Given the description of an element on the screen output the (x, y) to click on. 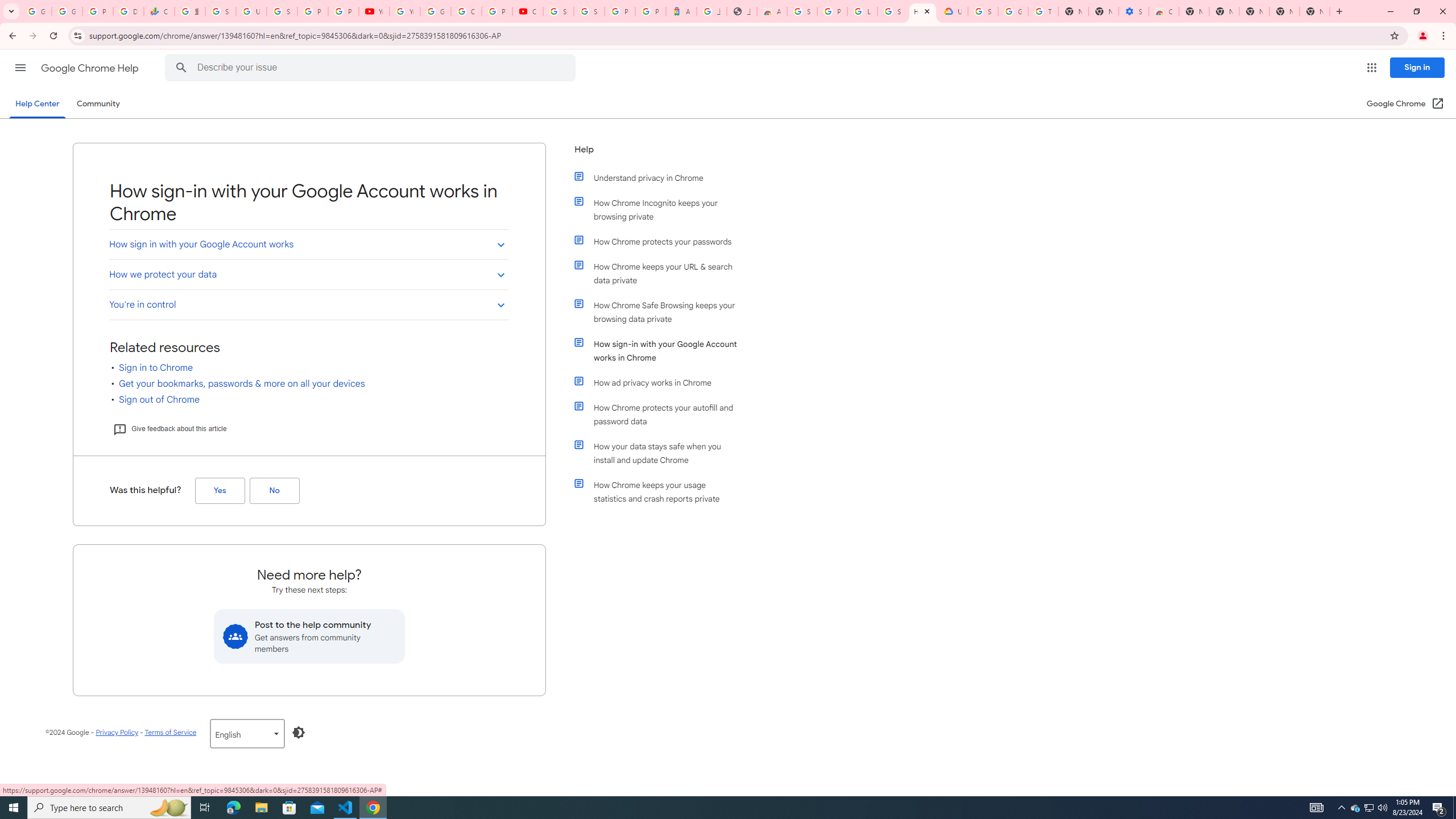
How we protect your data (308, 274)
Settings - Accessibility (1133, 11)
How sign in with your Google Account works (308, 244)
How Chrome Safe Browsing keeps your browsing data private (661, 312)
How Chrome protects your autofill and password data (661, 414)
Sign in - Google Accounts (982, 11)
No (Was this helpful?) (273, 490)
